Given the description of an element on the screen output the (x, y) to click on. 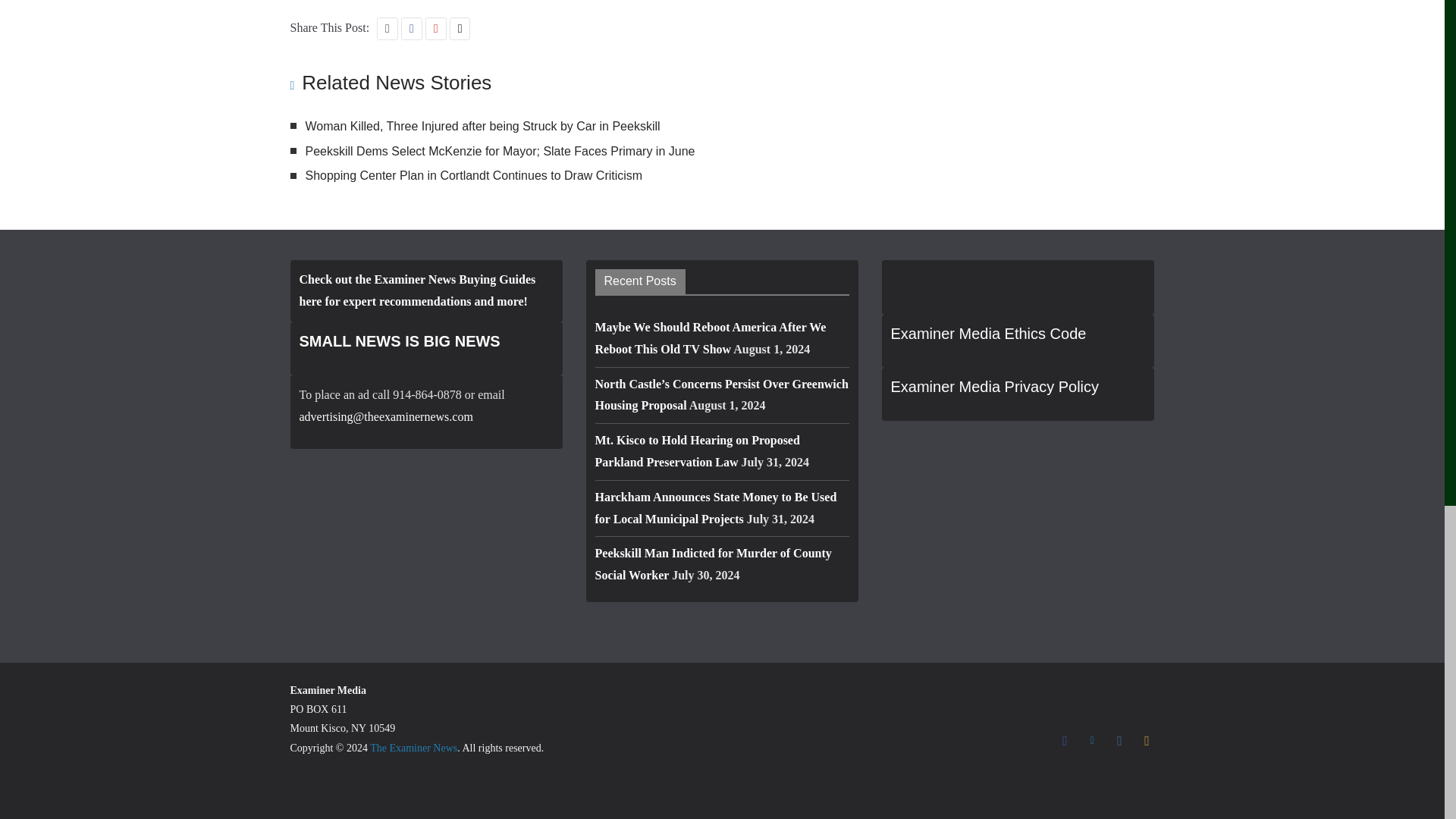
The Examiner News (413, 747)
